Given the description of an element on the screen output the (x, y) to click on. 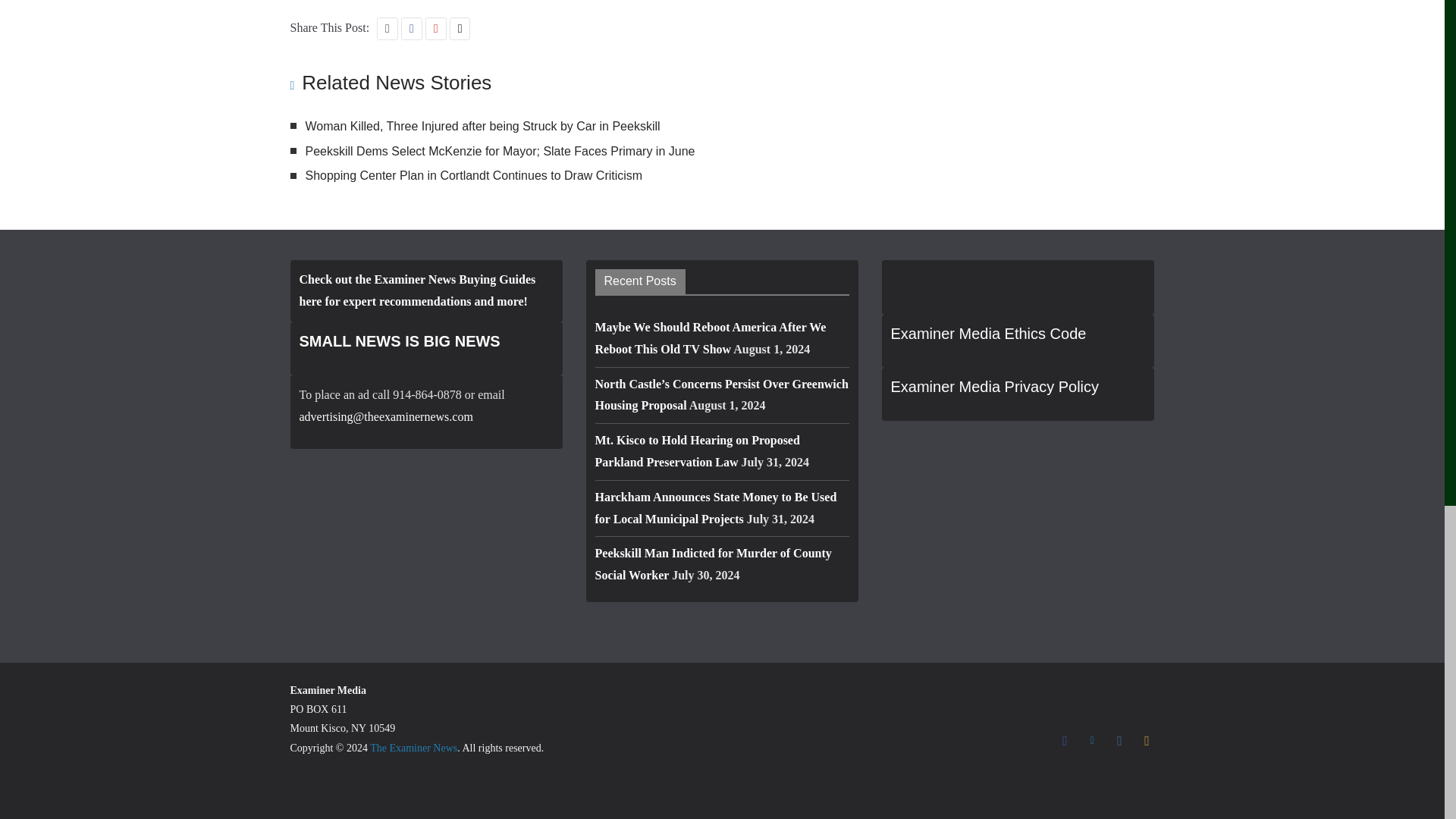
The Examiner News (413, 747)
